Given the description of an element on the screen output the (x, y) to click on. 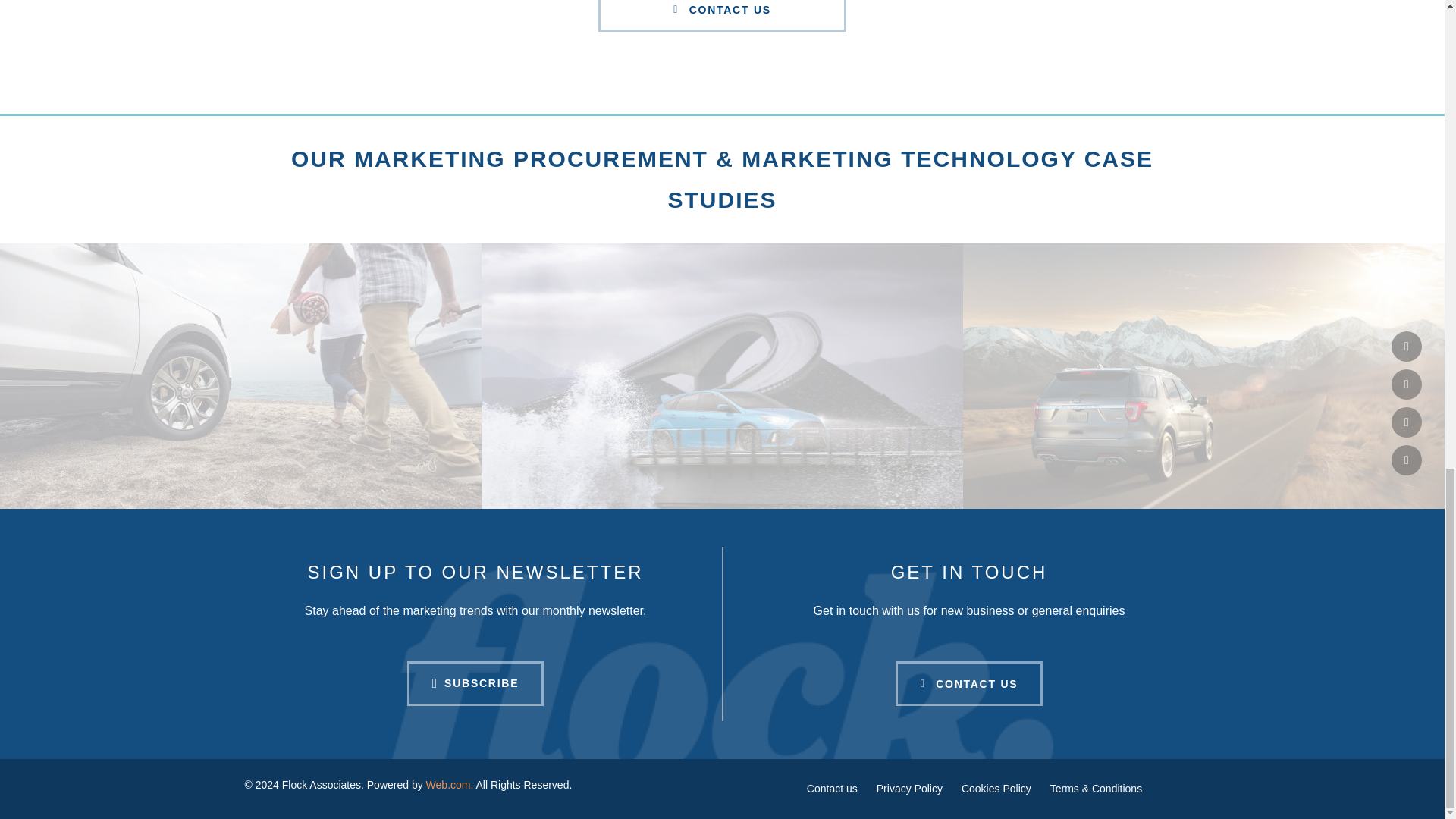
Click Here (475, 682)
